Given the description of an element on the screen output the (x, y) to click on. 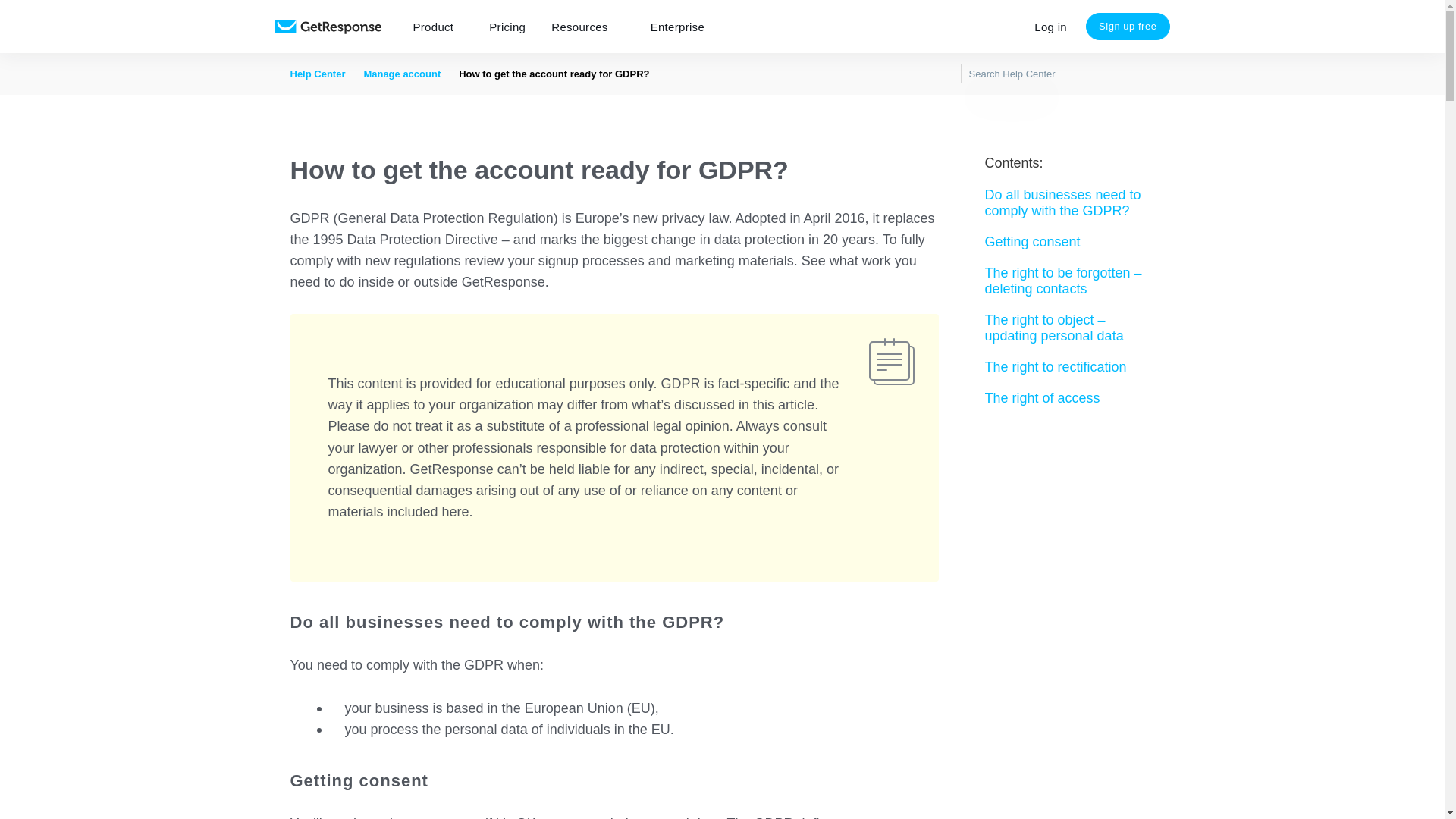
Do all businesses need to comply with the GDPR? (1069, 202)
Sign up free (1128, 26)
Sign up free (1128, 26)
Manage account (401, 73)
Enterprise (677, 26)
Marketing Software by GetResponse (327, 26)
Marketing Software by GetResponse (327, 26)
Help Center (317, 73)
Log in (1051, 26)
Pricing (507, 26)
